Given the description of an element on the screen output the (x, y) to click on. 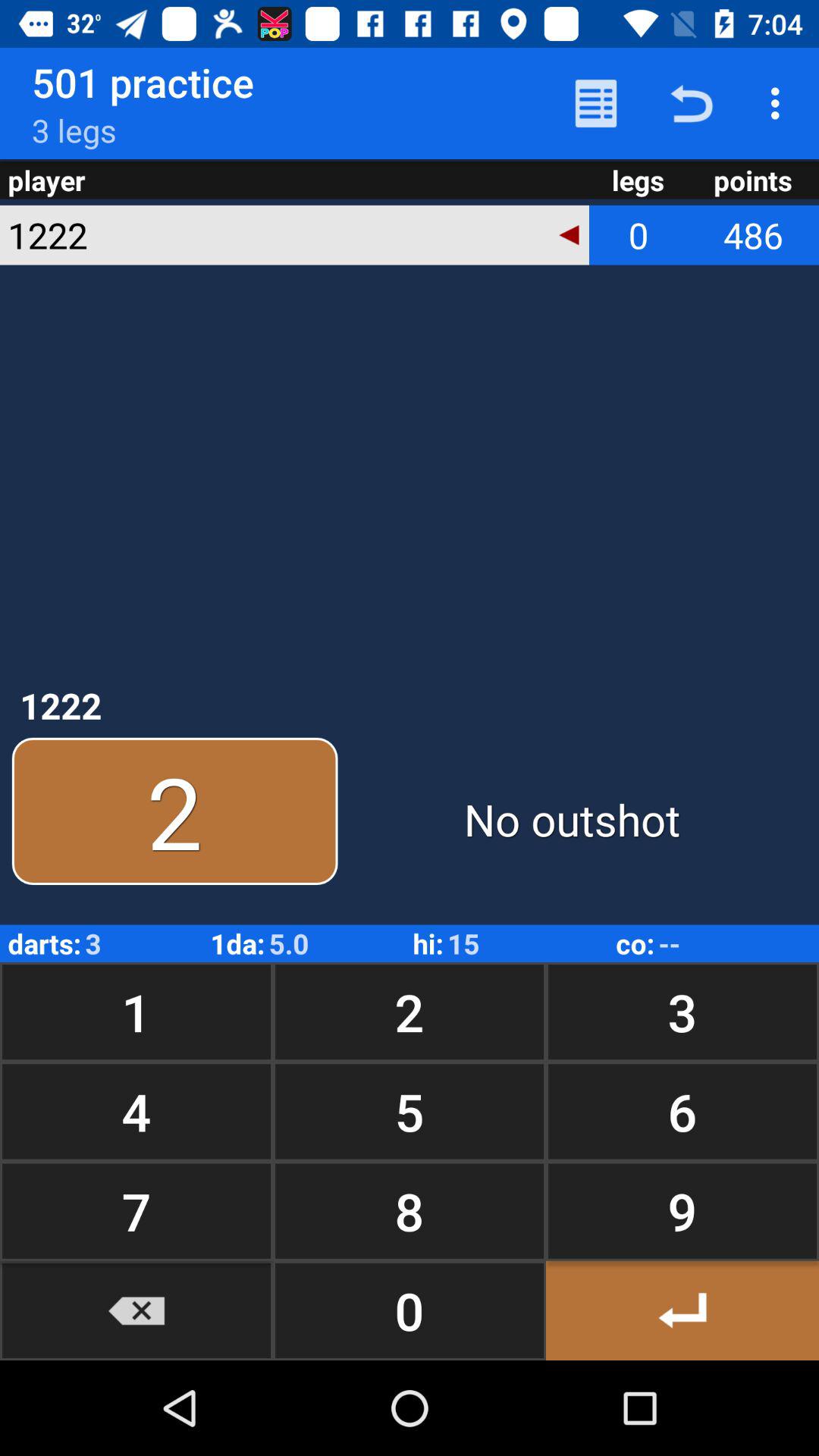
turn on item next to 8 icon (682, 1310)
